Given the description of an element on the screen output the (x, y) to click on. 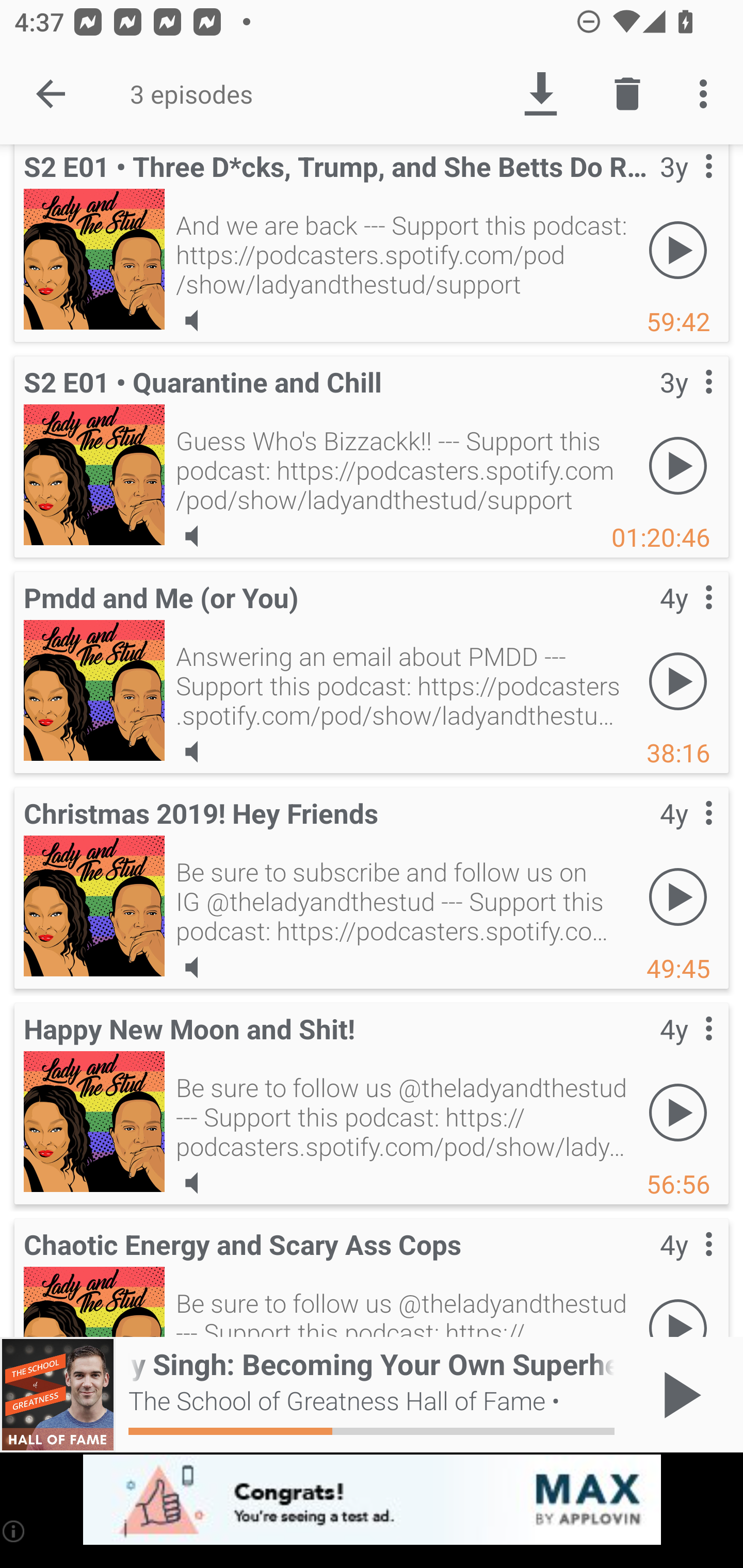
Done (50, 93)
Download (540, 93)
Delete episode (626, 93)
More options (706, 93)
Contextual menu (685, 186)
Three D*cks, Trump, and She Betts Do Right! (93, 258)
Play (677, 250)
Contextual menu (685, 402)
Quarantine and Chill (93, 474)
Play (677, 465)
Contextual menu (685, 617)
Pmdd and Me (or You) (93, 689)
Play (677, 681)
Contextual menu (685, 833)
Christmas 2019! Hey Friends (93, 905)
Play (677, 896)
Contextual menu (685, 1048)
Happy New Moon and Shit! (93, 1120)
Play (677, 1112)
Contextual menu (685, 1265)
Play (677, 1307)
Play / Pause (677, 1394)
app-monetization (371, 1500)
(i) (14, 1531)
